Given the description of an element on the screen output the (x, y) to click on. 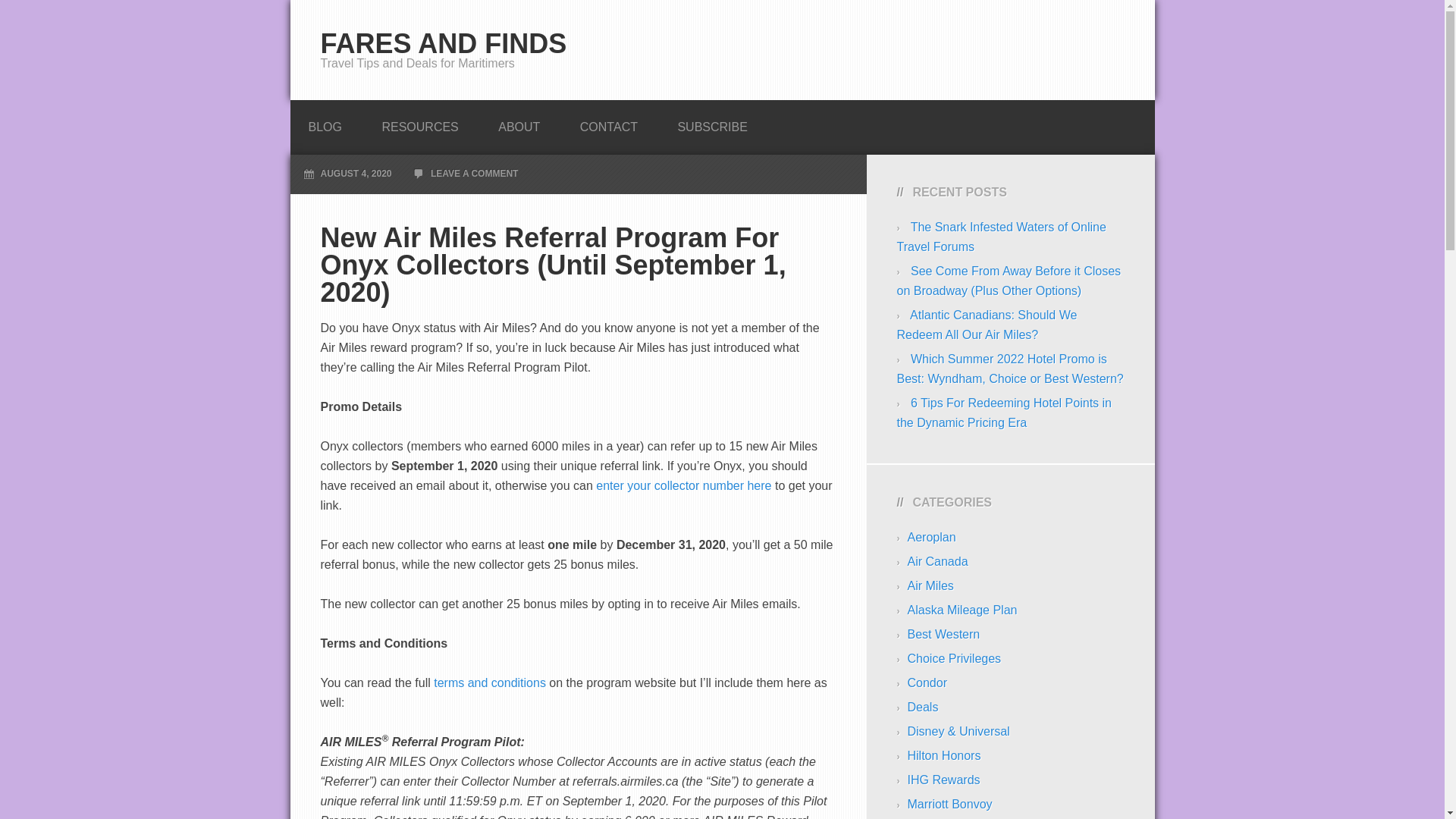
Marriott Bonvoy (949, 803)
SUBSCRIBE (712, 122)
Deals (922, 707)
enter your collector number here (683, 485)
Air Canada (937, 561)
ABOUT (518, 122)
terms and conditions (489, 682)
LEAVE A COMMENT (474, 173)
FARES AND FINDS (443, 42)
BLOG (324, 122)
Alaska Mileage Plan (961, 609)
Atlantic Canadians: Should We Redeem All Our Air Miles? (986, 324)
Air Miles (930, 585)
RESOURCES (419, 122)
